Given the description of an element on the screen output the (x, y) to click on. 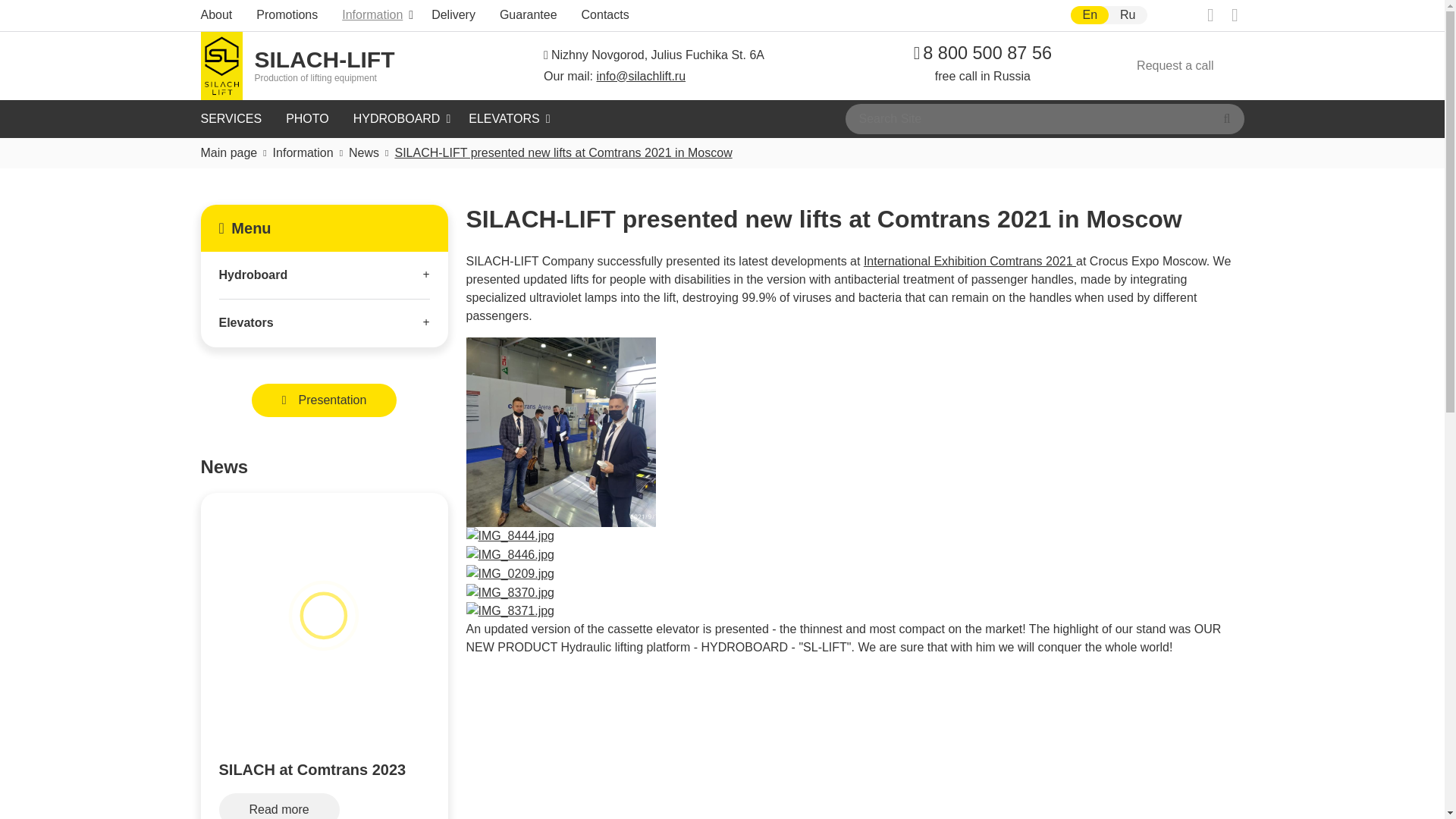
About (219, 15)
Contacts (601, 15)
8 800 500 87 56 (297, 65)
Guarantee (982, 53)
En (528, 15)
Search (1089, 14)
HYDROBOARD (1227, 118)
SERVICES (394, 119)
Delivery (233, 119)
Promotions (453, 15)
Ru (286, 15)
Information (1127, 14)
Request a call (369, 15)
PHOTO (1174, 65)
